Given the description of an element on the screen output the (x, y) to click on. 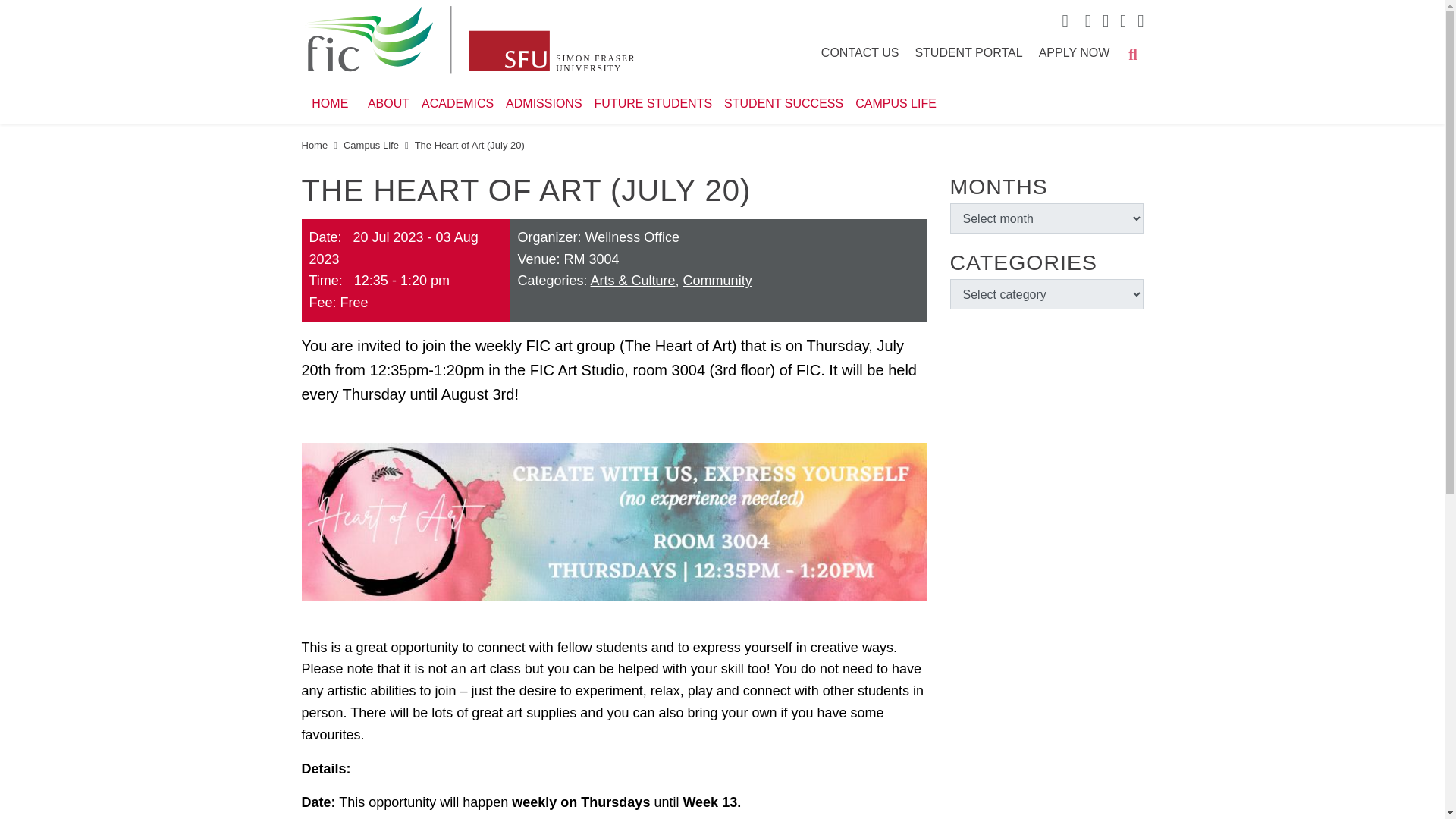
ACADEMICS (454, 100)
ADMISSIONS (539, 100)
FUTURE STUDENTS (649, 100)
Fraser International College (467, 40)
CONTACT US (860, 53)
Facebook (1084, 20)
STUDENT PORTAL (967, 53)
HOME (329, 100)
ABOUT (385, 100)
APPLY NOW (1074, 53)
